Given the description of an element on the screen output the (x, y) to click on. 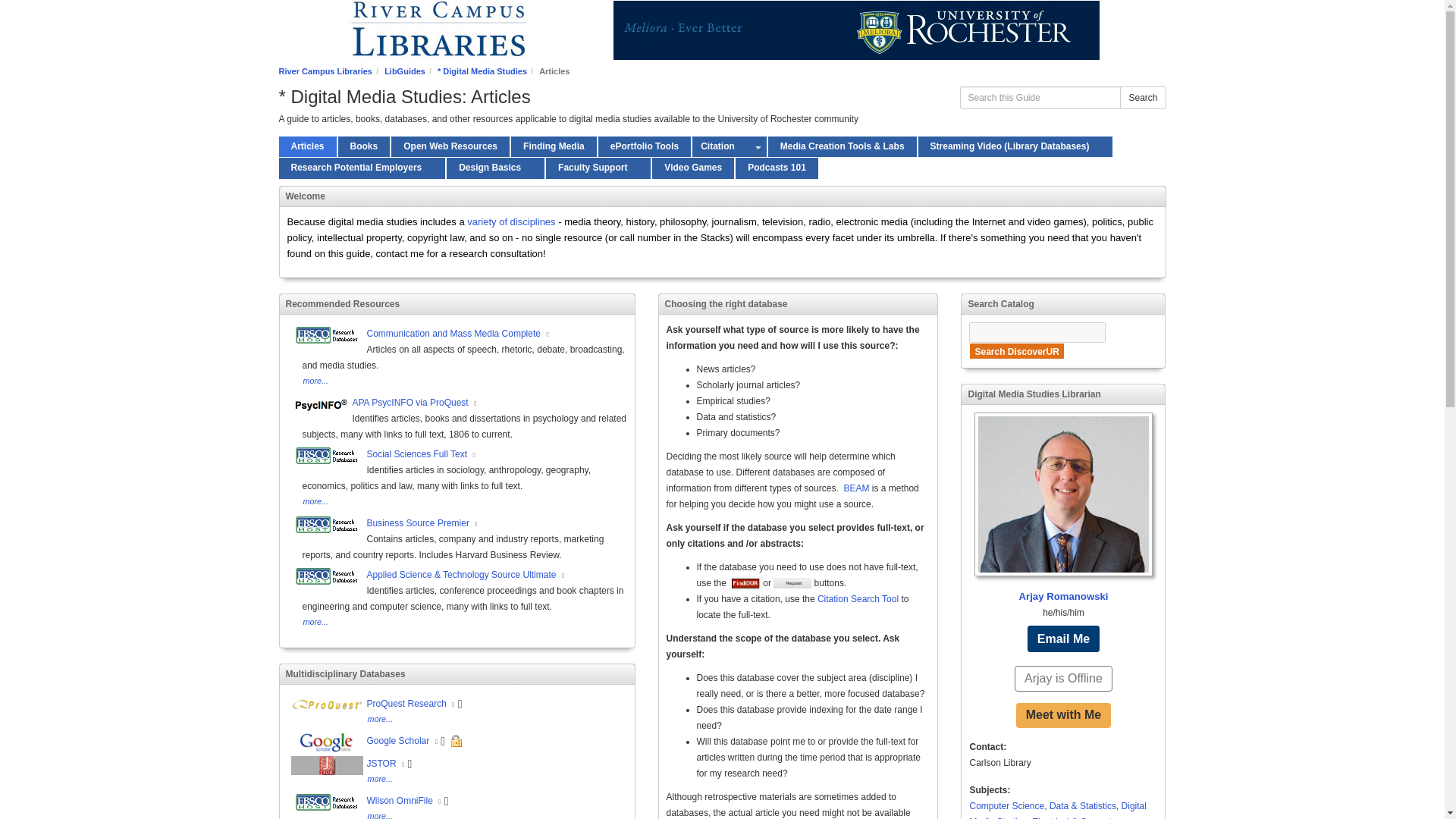
Articles (722, 146)
This link opens in a new window (307, 146)
ProQuest Research (362, 168)
more... (429, 168)
This link opens in a new window (528, 704)
Business Source Premier (315, 380)
Open Web Resources (1096, 147)
Podcasts 101 (528, 523)
Google Scholar (450, 146)
This link opens in a new window (776, 168)
Books (528, 741)
more... (495, 168)
